Given the description of an element on the screen output the (x, y) to click on. 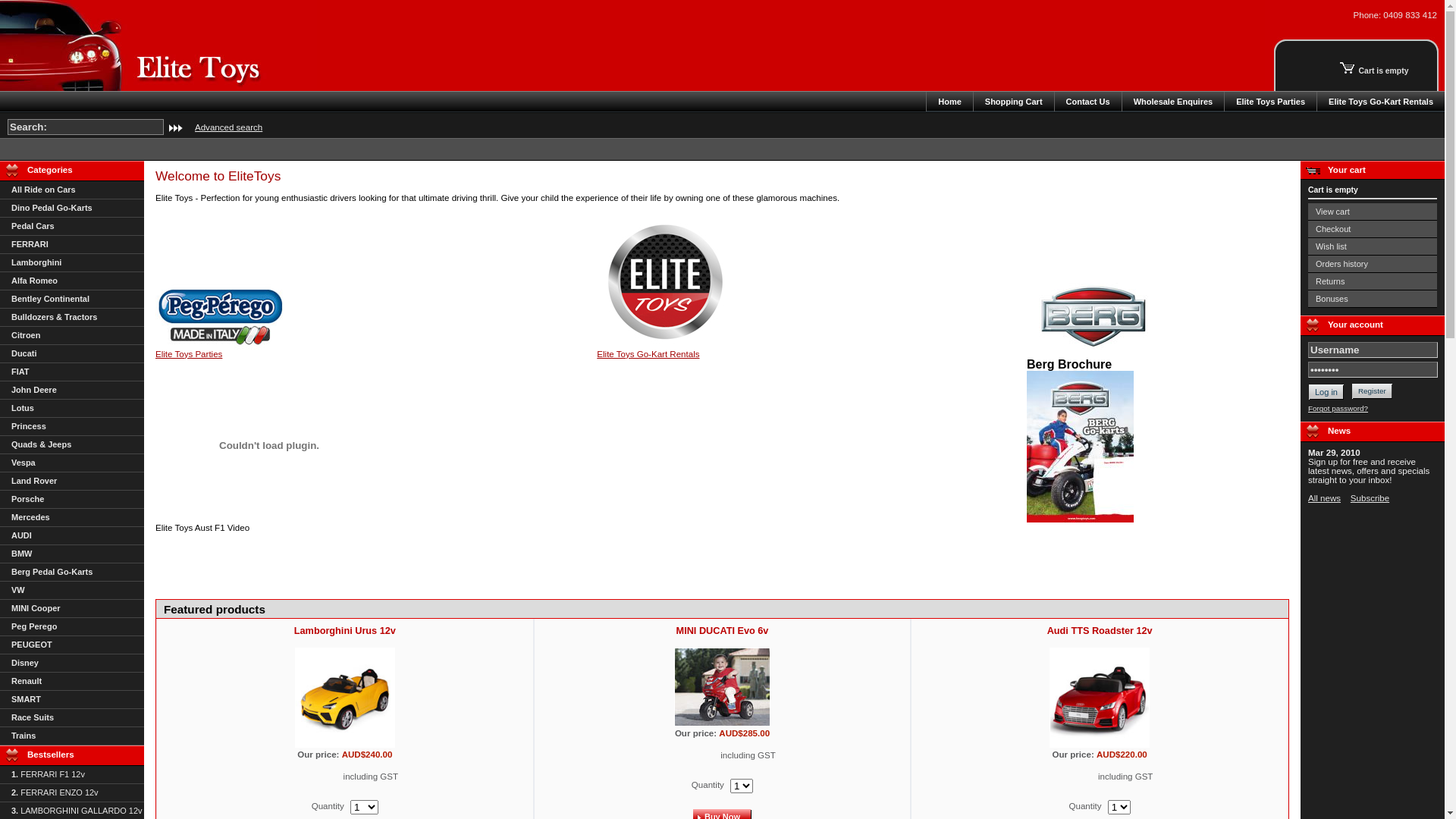
Vespa Element type: text (72, 463)
Orders history Element type: text (1372, 264)
FERRARI Element type: text (72, 244)
AUDI Element type: text (72, 536)
1. FERRARI F1 12v Element type: text (72, 774)
Subscribe Element type: text (1369, 497)
Alfa Romeo Element type: text (72, 281)
Log in Element type: text (1326, 391)
2. FERRARI ENZO 12v Element type: text (72, 793)
MINI Cooper Element type: text (72, 608)
Elite Toys Go-Kart Rentals Element type: text (647, 353)
Register Element type: text (1369, 390)
Audi TTS Roadster 12v Element type: text (1099, 630)
MINI DUCATI Evo 6v Element type: text (722, 630)
Mercedes Element type: text (72, 517)
Elite Toys Go-Kart Rentals Element type: text (1380, 101)
Home Element type: text (949, 101)
Shopping Cart Element type: text (1013, 101)
Returns Element type: text (1372, 281)
Land Rover Element type: text (72, 481)
Elite Toys Parties Element type: text (1270, 101)
PEUGEOT Element type: text (72, 645)
Pedal Cars Element type: text (72, 226)
Disney Element type: text (72, 663)
Peg Perego Element type: text (72, 627)
Lamborghini Element type: text (72, 263)
Lotus Element type: text (72, 408)
BMW Element type: text (72, 554)
Click to open Berg Brochure 2016 Element type: hover (1079, 519)
Porsche Element type: text (72, 499)
Trains Element type: text (72, 736)
Lamborghini Urus 12v Element type: text (344, 630)
View cart Element type: text (1372, 211)
Ducati Element type: text (72, 354)
Renault Element type: text (72, 681)
Elite Toys Parties Element type: text (188, 353)
Princess Element type: text (72, 426)
All Ride on Cars Element type: text (72, 190)
Bentley Continental Element type: text (72, 299)
Contact Us Element type: text (1087, 101)
Quads & Jeeps Element type: text (72, 445)
Wish list Element type: text (1372, 246)
Dino Pedal Go-Karts Element type: text (72, 208)
Advanced search Element type: text (224, 126)
Bonuses Element type: text (1372, 298)
Checkout Element type: text (1372, 229)
All news Element type: text (1324, 497)
John Deere Element type: text (72, 390)
SMART Element type: text (72, 699)
FIAT Element type: text (72, 372)
Forgot password? Element type: text (1338, 408)
Berg Pedal Go-Karts Element type: text (72, 572)
Register Element type: text (1372, 390)
Wholesale Enquires Element type: text (1173, 101)
Bulldozers & Tractors Element type: text (72, 317)
Citroen Element type: text (72, 335)
VW Element type: text (72, 590)
Race Suits Element type: text (72, 718)
